Given the description of an element on the screen output the (x, y) to click on. 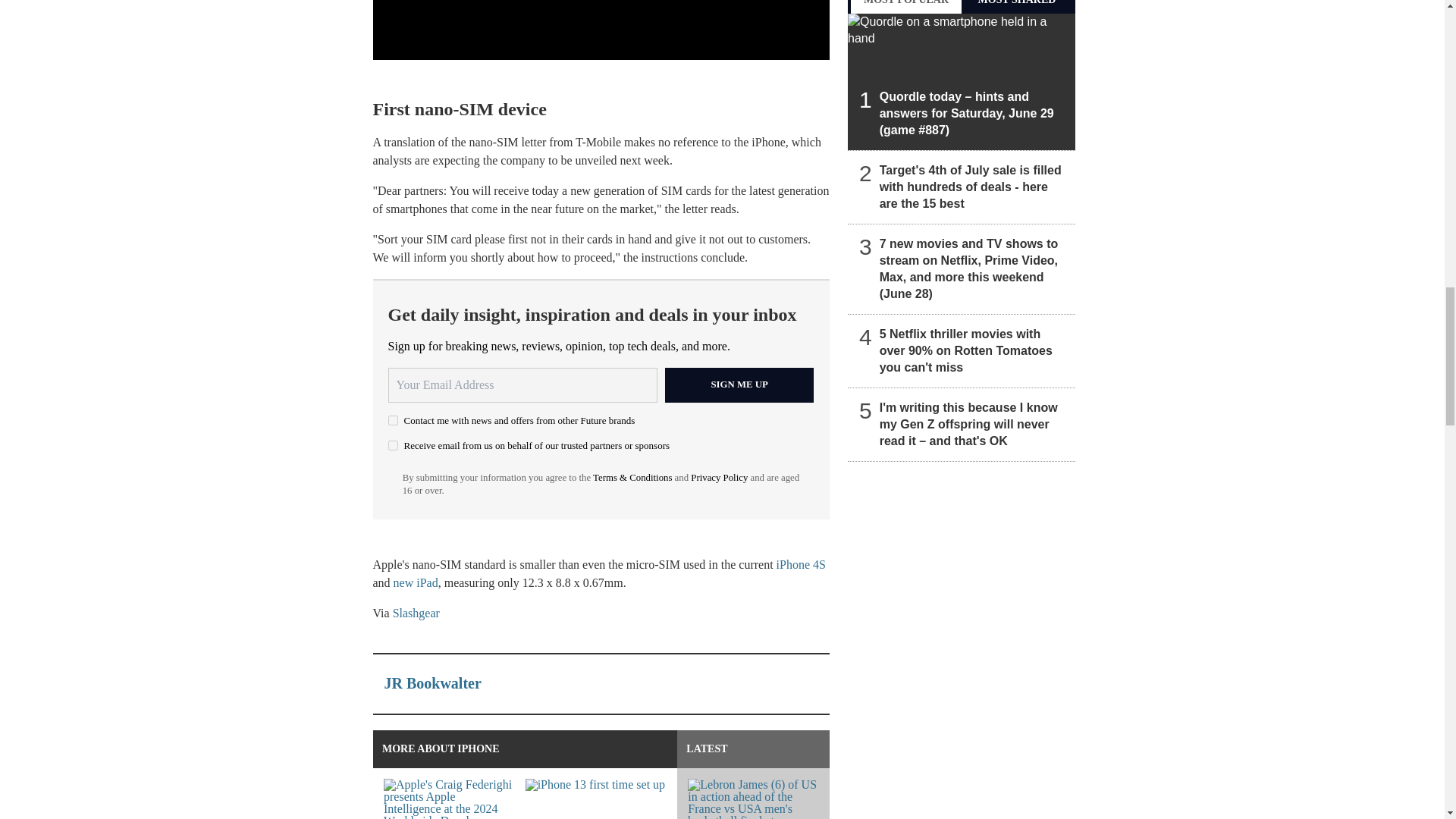
on (392, 420)
on (392, 445)
Sign me up (739, 384)
